Given the description of an element on the screen output the (x, y) to click on. 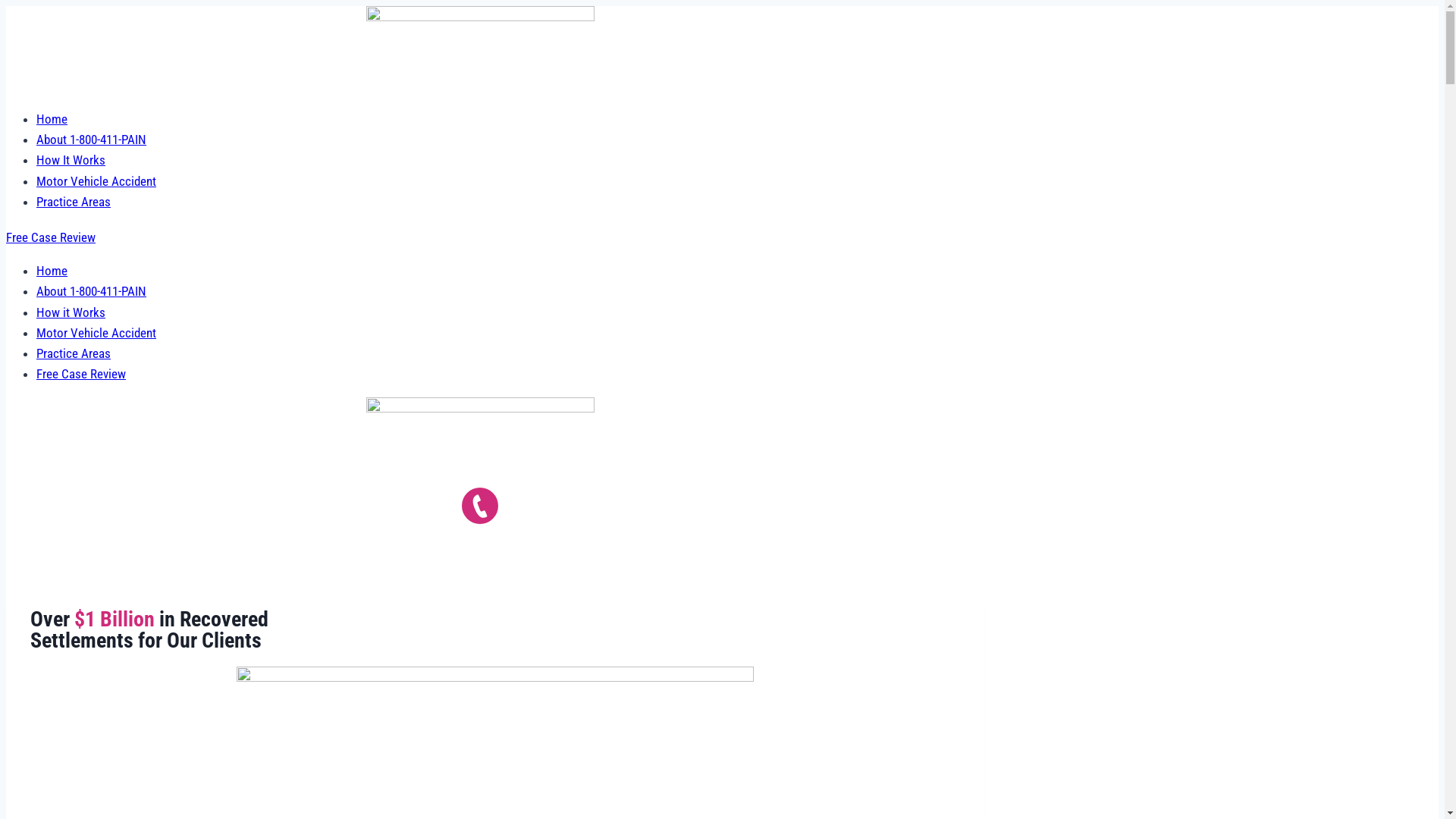
About 1-800-411-PAIN Element type: text (91, 139)
Free Case Review Element type: text (50, 236)
Motor Vehicle Accident Element type: text (96, 332)
About 1-800-411-PAIN Element type: text (91, 290)
Skip to content Element type: text (5, 5)
Home Element type: text (51, 118)
How It Works Element type: text (70, 159)
How it Works Element type: text (70, 312)
Free Case Review Element type: text (80, 373)
Practice Areas Element type: text (73, 201)
Home Element type: text (51, 270)
Motor Vehicle Accident Element type: text (96, 180)
Practice Areas Element type: text (73, 352)
